Given the description of an element on the screen output the (x, y) to click on. 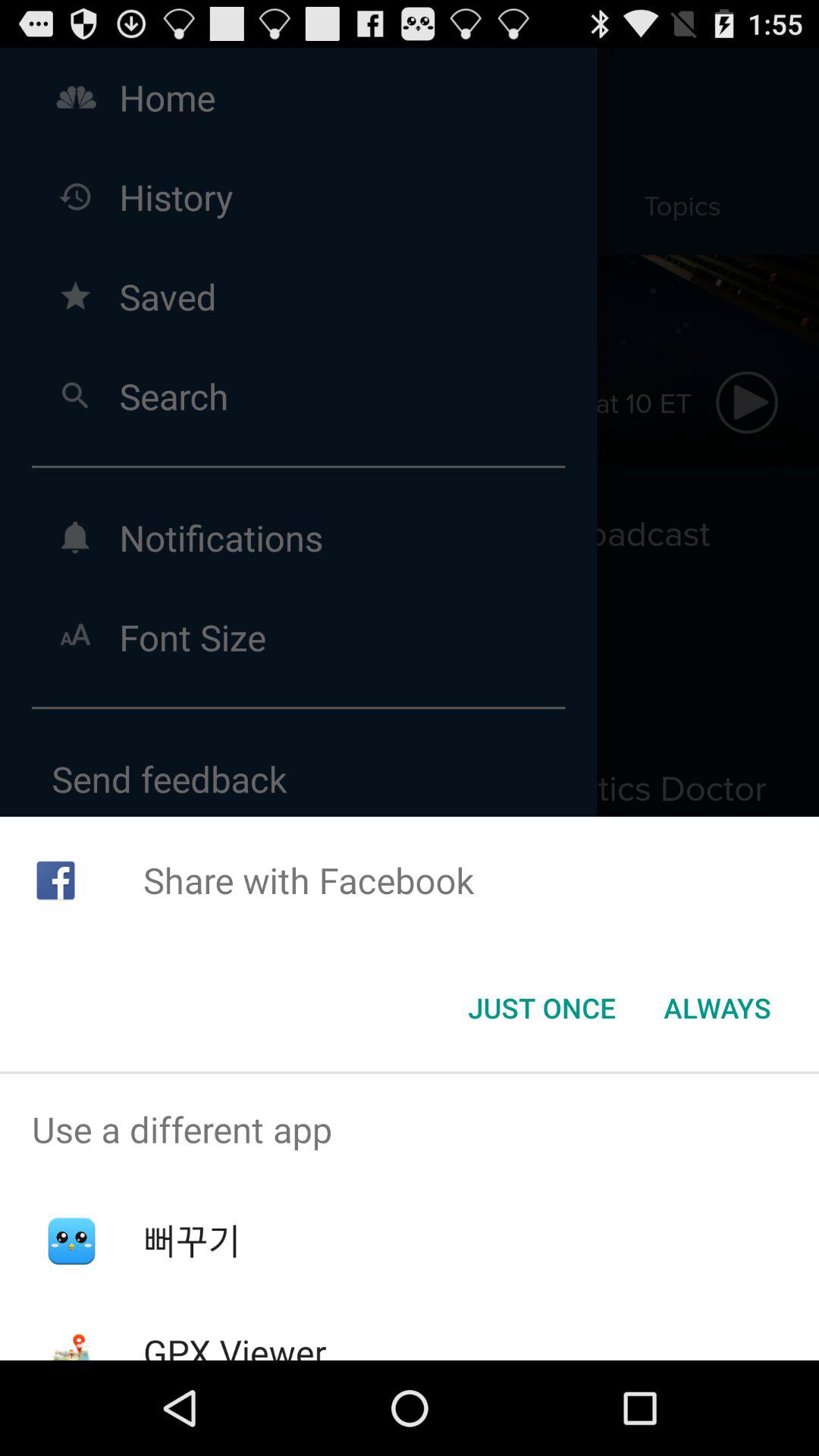
select the just once icon (541, 1007)
